Given the description of an element on the screen output the (x, y) to click on. 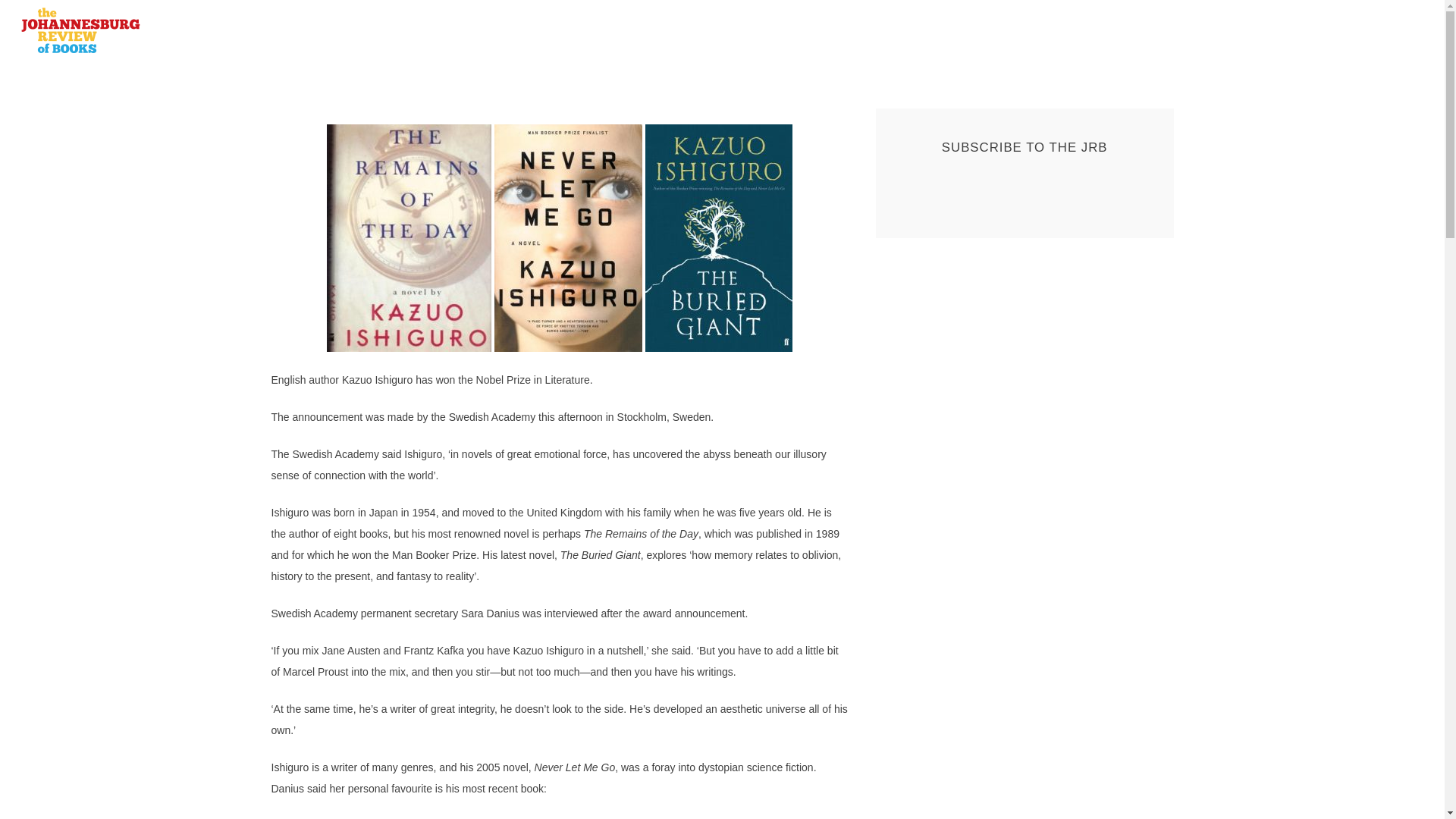
JENNIFER MALEC (425, 186)
REVIEWS (660, 30)
FICTION (792, 30)
POETRY (846, 30)
THE JOHANNESBURG REVIEW OF BOOKS (204, 61)
INTERVIEWS (727, 30)
OCTOBER 5, 2017 (324, 186)
INTERNATIONAL (578, 30)
ABOUT THE JRB (925, 30)
